Given the description of an element on the screen output the (x, y) to click on. 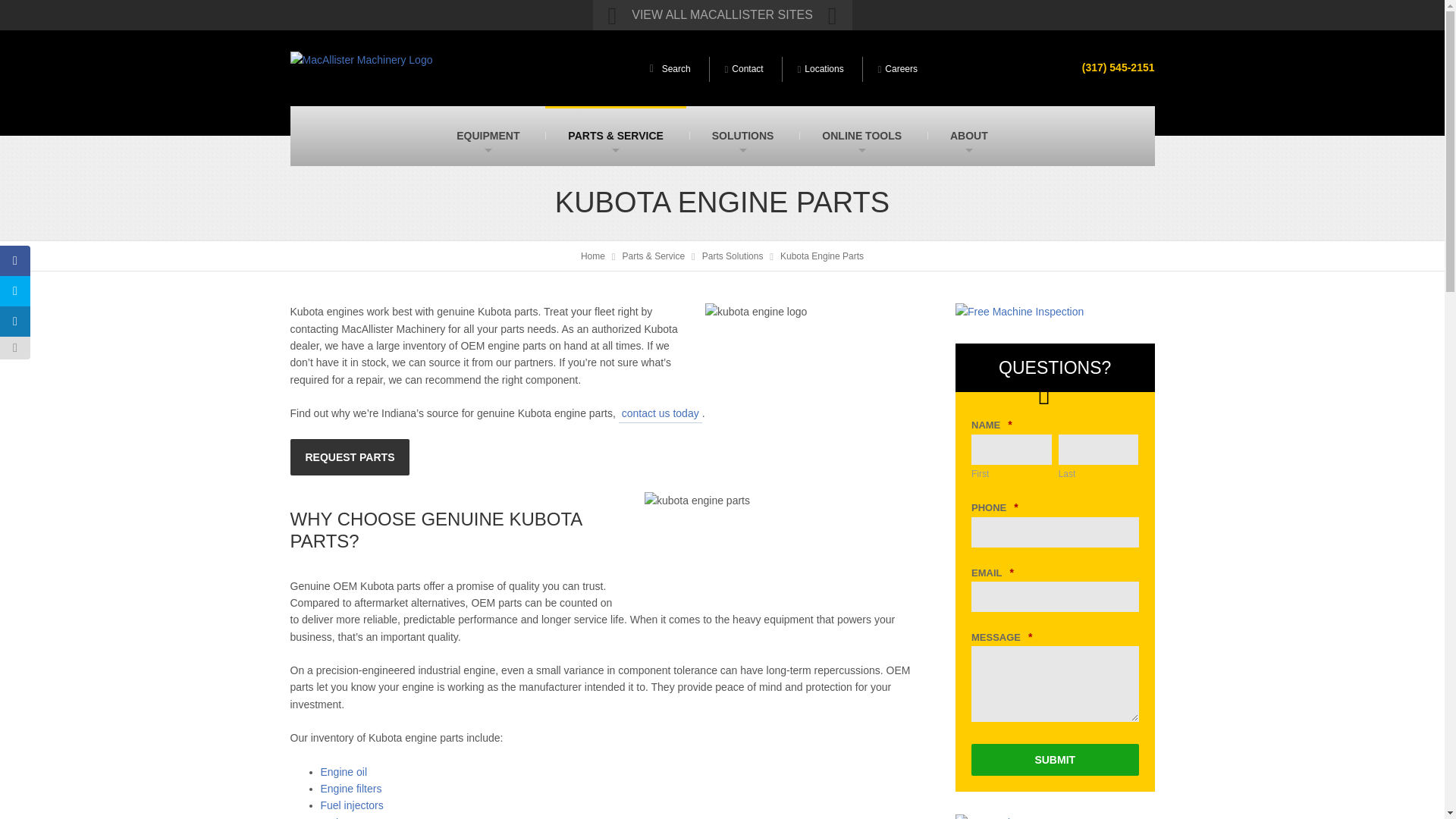
Careers (898, 69)
Search (981, 51)
EQUIPMENT (487, 135)
Search (671, 69)
Contact (744, 69)
Submit (1054, 759)
Locations (821, 69)
